Given the description of an element on the screen output the (x, y) to click on. 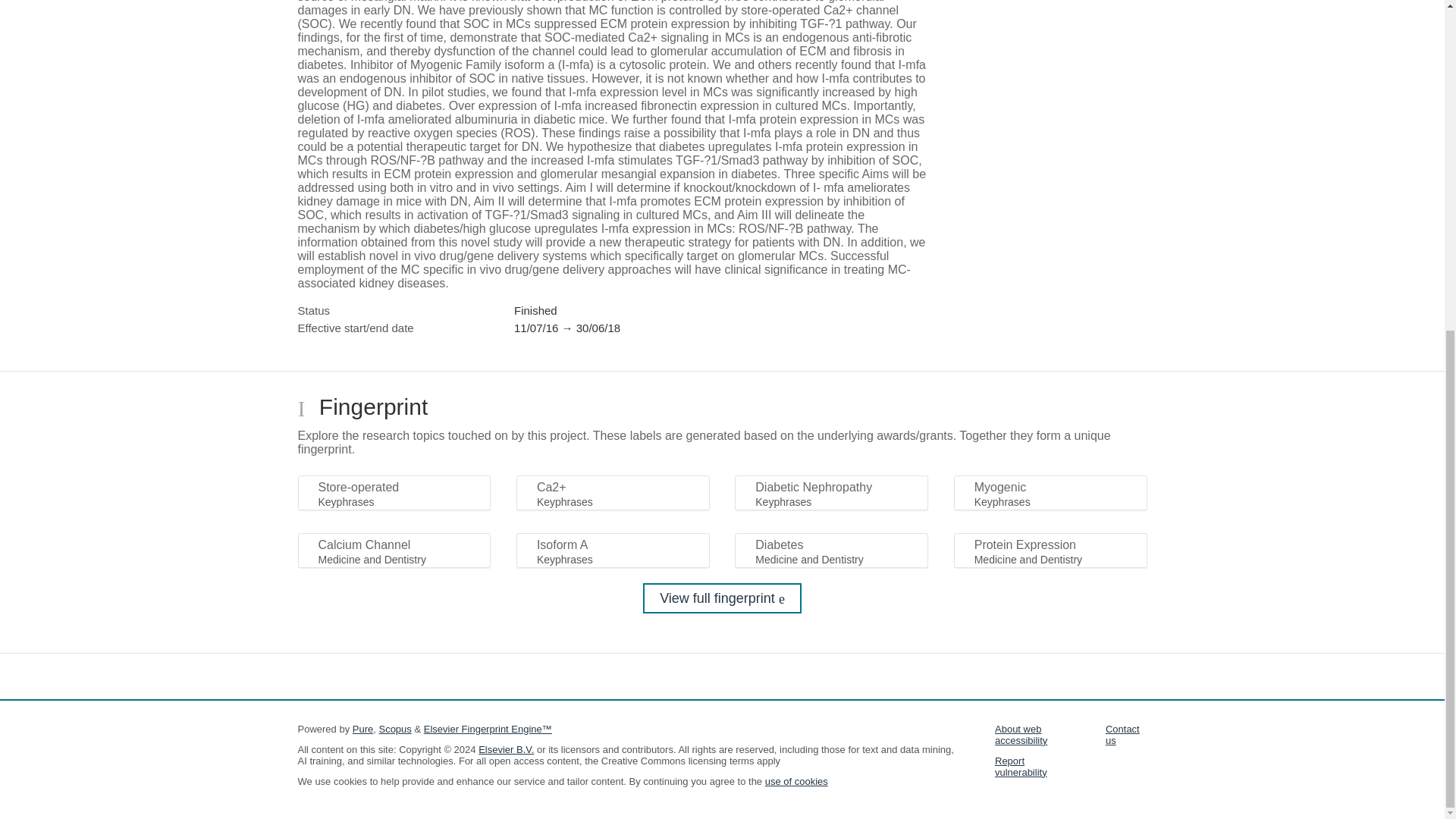
Pure (362, 728)
Scopus (394, 728)
Elsevier B.V. (506, 749)
Report vulnerability (1020, 766)
use of cookies (796, 781)
About web accessibility (1020, 734)
Contact us (1122, 734)
View full fingerprint (722, 598)
